Given the description of an element on the screen output the (x, y) to click on. 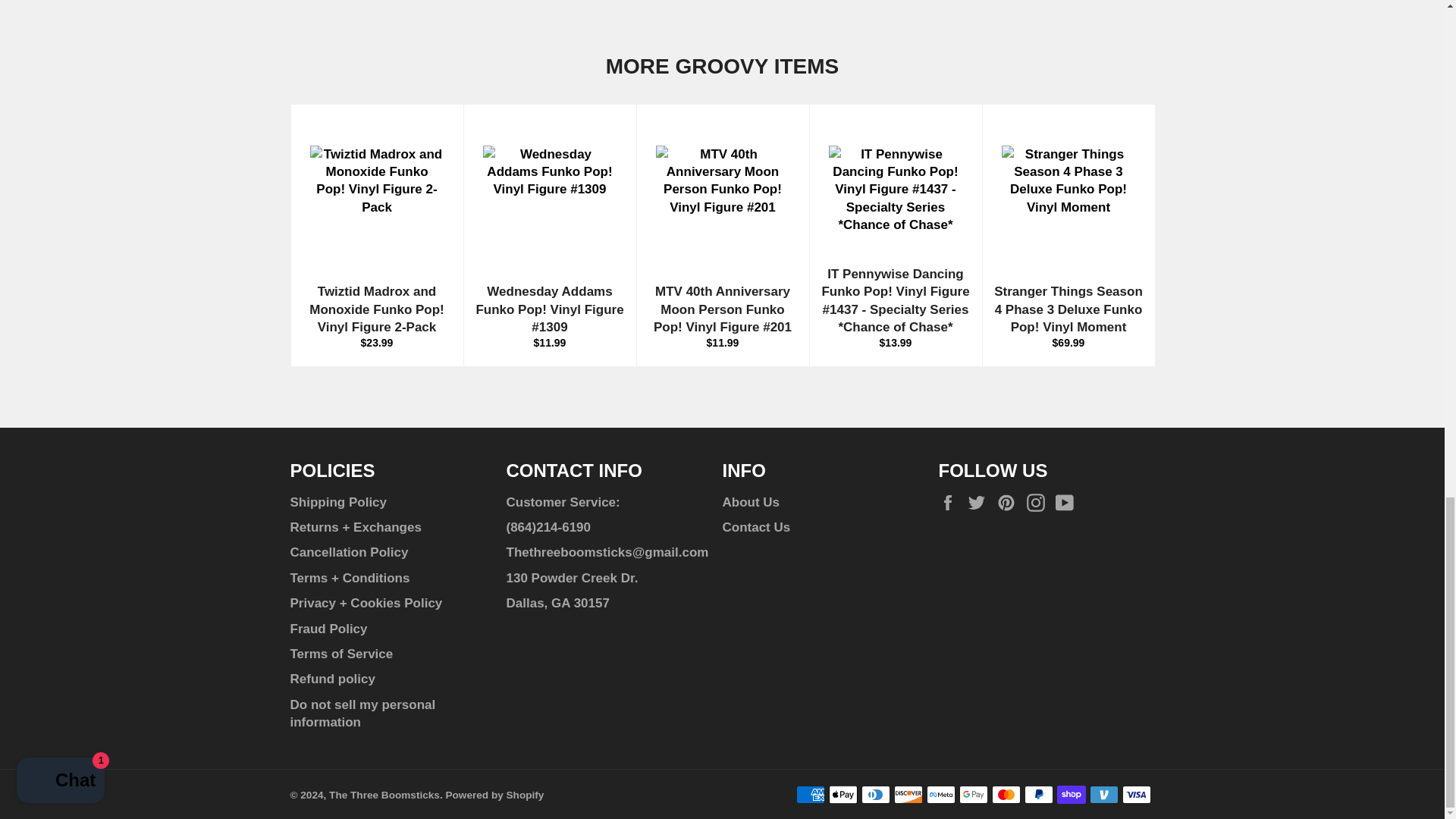
The Three Boomsticks on Twitter (980, 502)
The Three Boomsticks on Facebook (951, 502)
The Three Boomsticks on YouTube (1068, 502)
The Three Boomsticks on Pinterest (1010, 502)
The Three Boomsticks on Instagram (1039, 502)
